Given the description of an element on the screen output the (x, y) to click on. 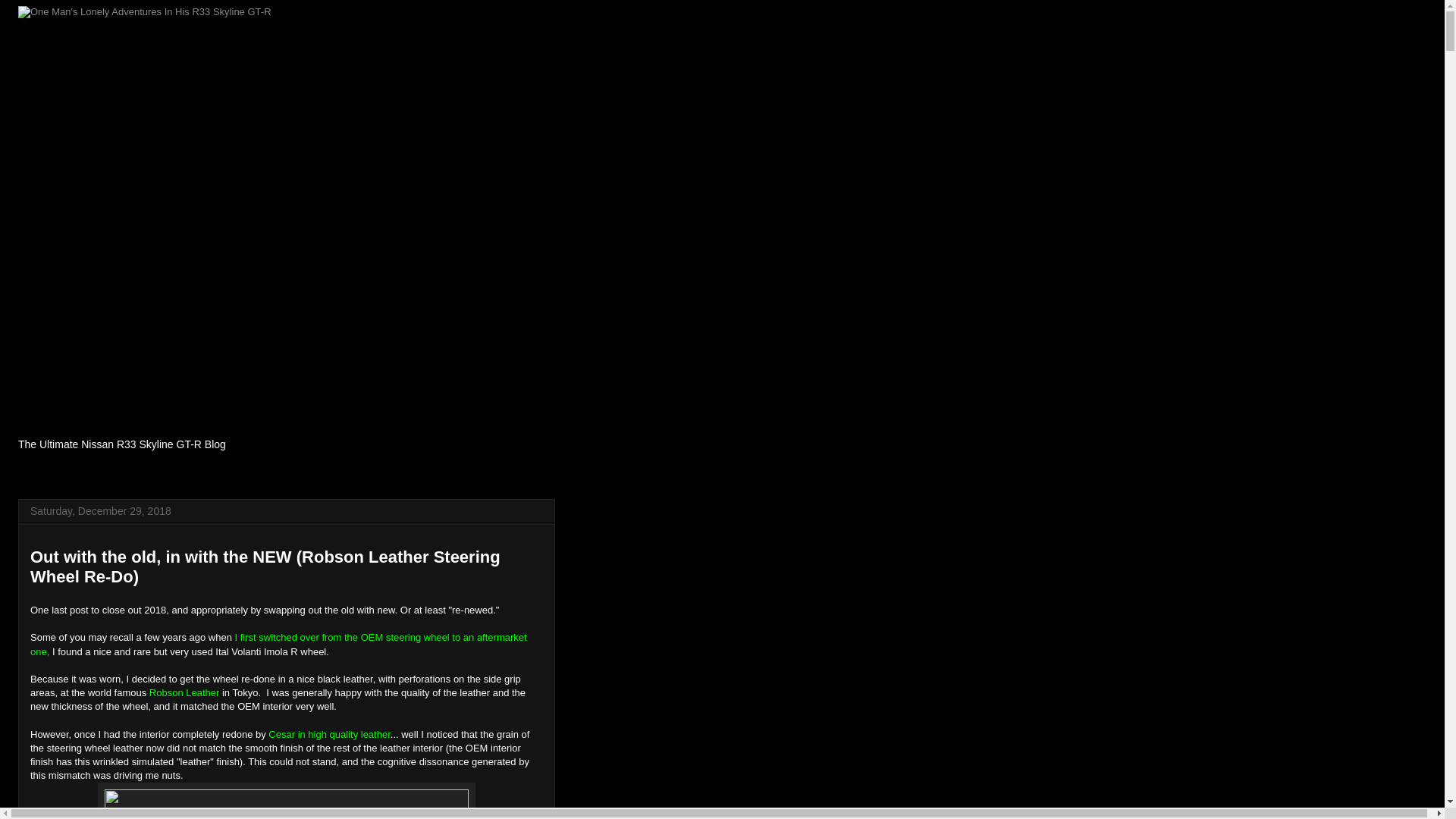
Cesar in high quality leather (328, 734)
Robson Leather (184, 692)
